Given the description of an element on the screen output the (x, y) to click on. 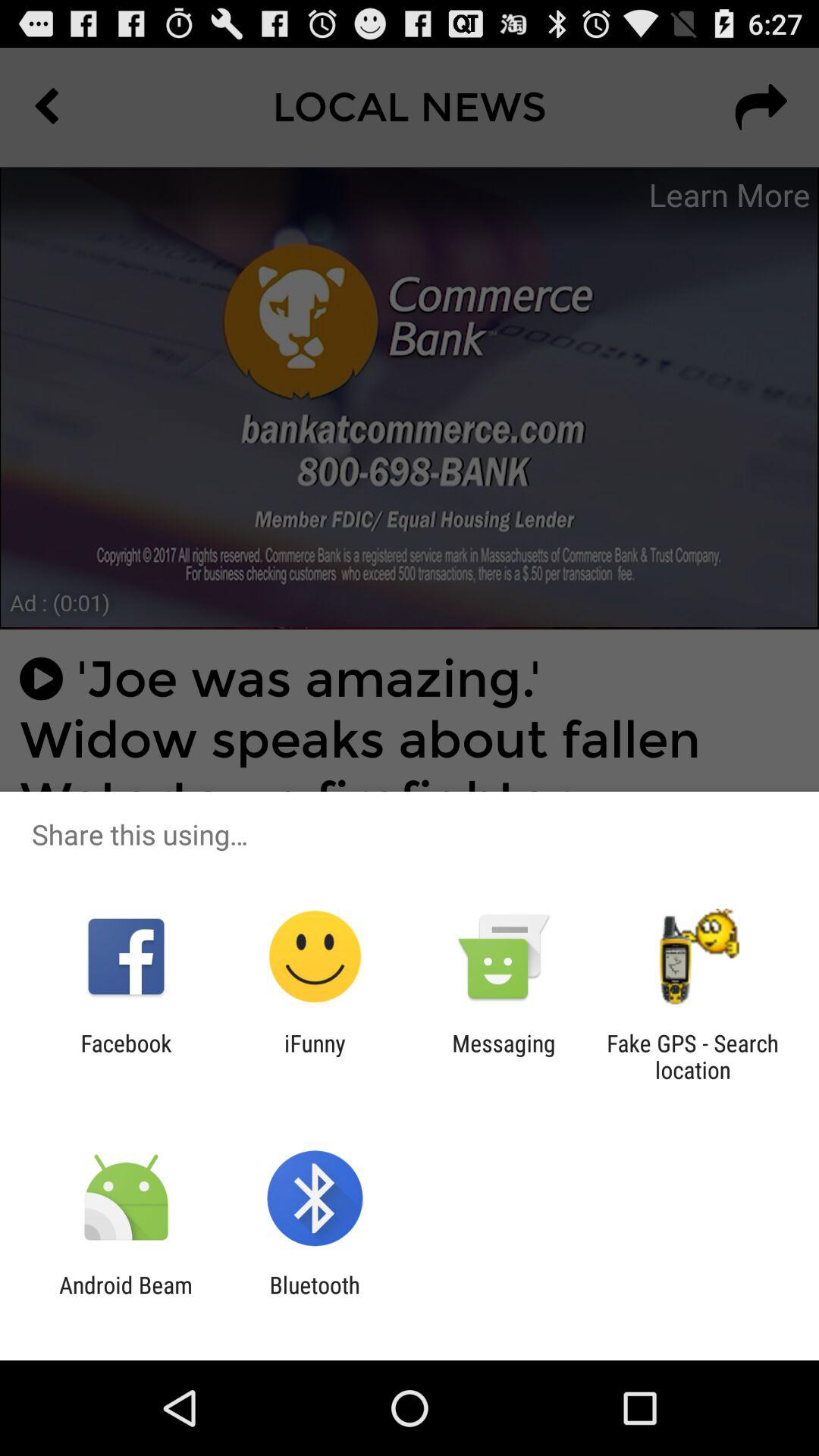
open icon next to messaging item (314, 1056)
